Given the description of an element on the screen output the (x, y) to click on. 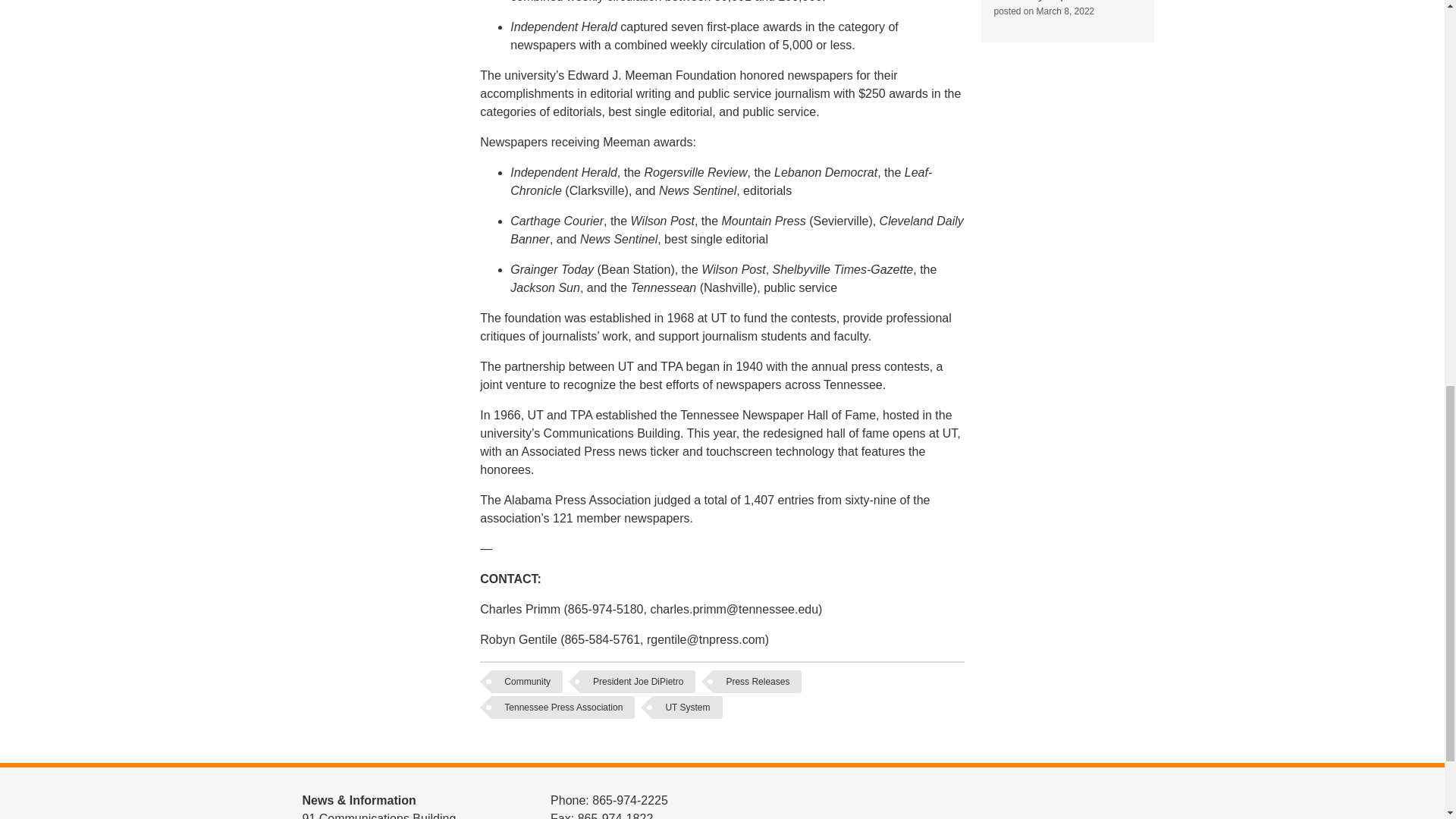
Community (527, 681)
President Joe DiPietro (637, 681)
Press Releases (757, 681)
UT System (687, 707)
Robot Food Delivery Service Officially Launches on Rocky Top (1065, 0)
Tennessee Press Association (563, 707)
